Given the description of an element on the screen output the (x, y) to click on. 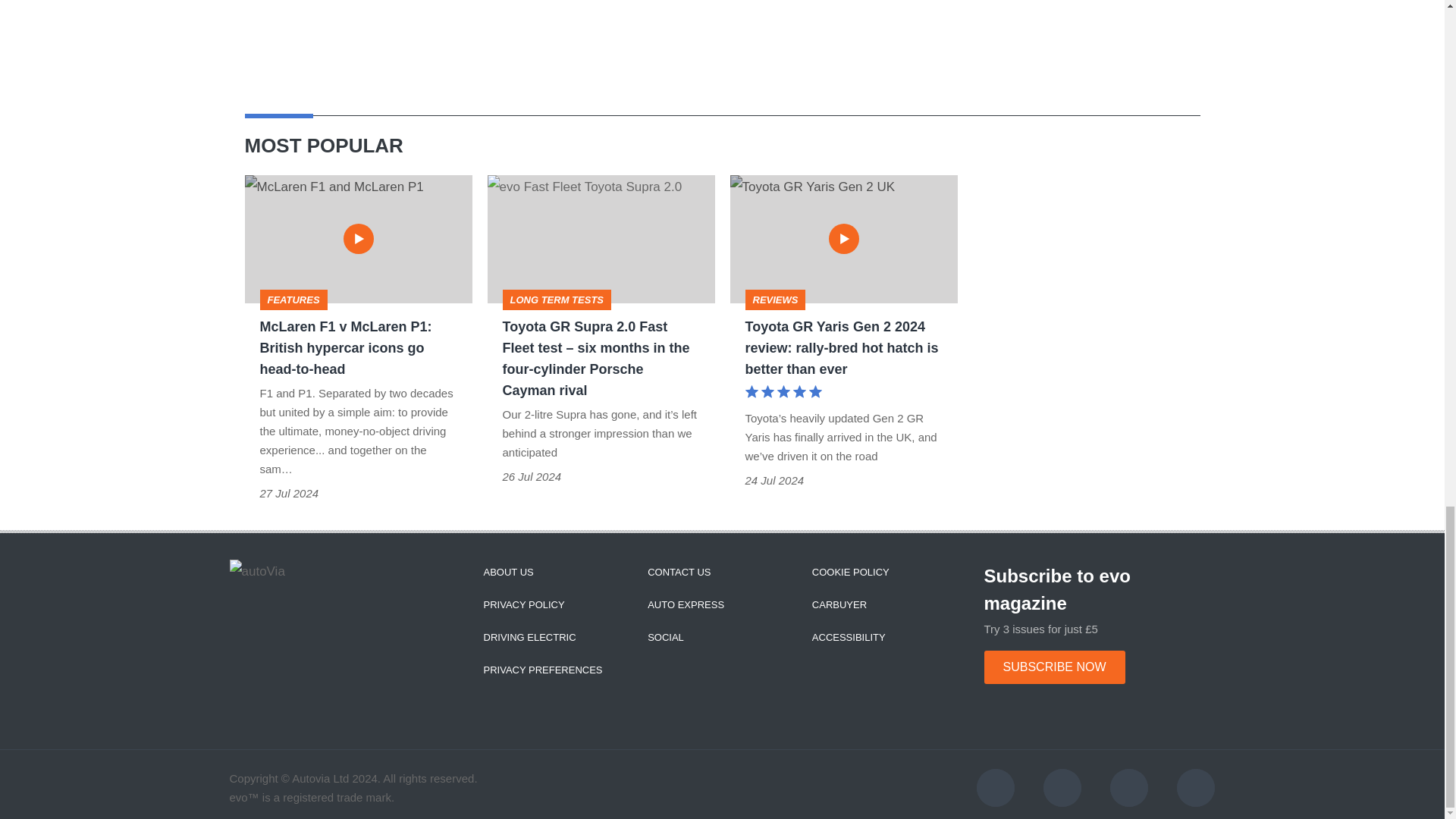
Subscribe now (1054, 666)
5 Stars (782, 394)
